Given the description of an element on the screen output the (x, y) to click on. 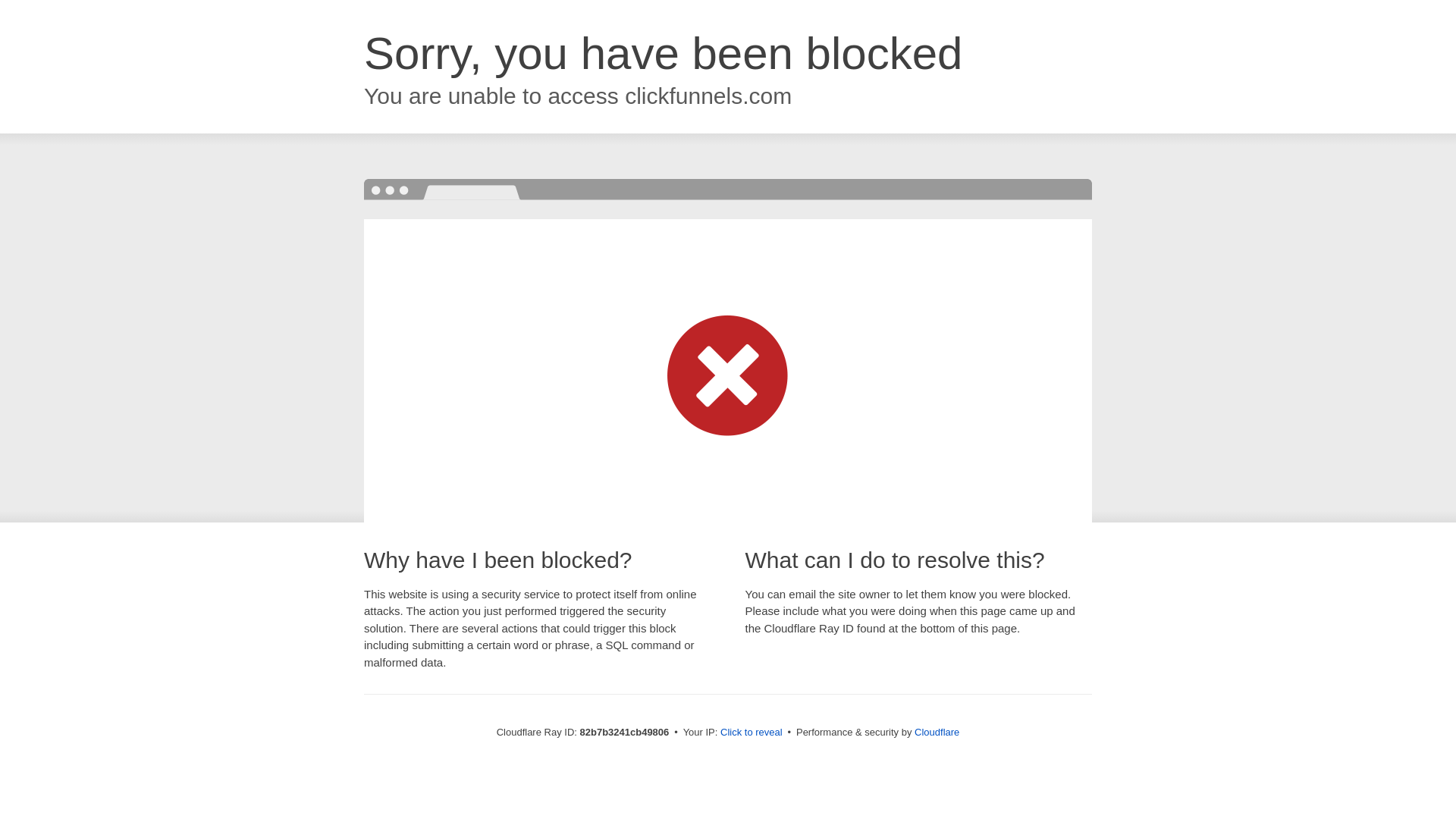
Click to reveal Element type: text (751, 732)
Cloudflare Element type: text (936, 731)
